Given the description of an element on the screen output the (x, y) to click on. 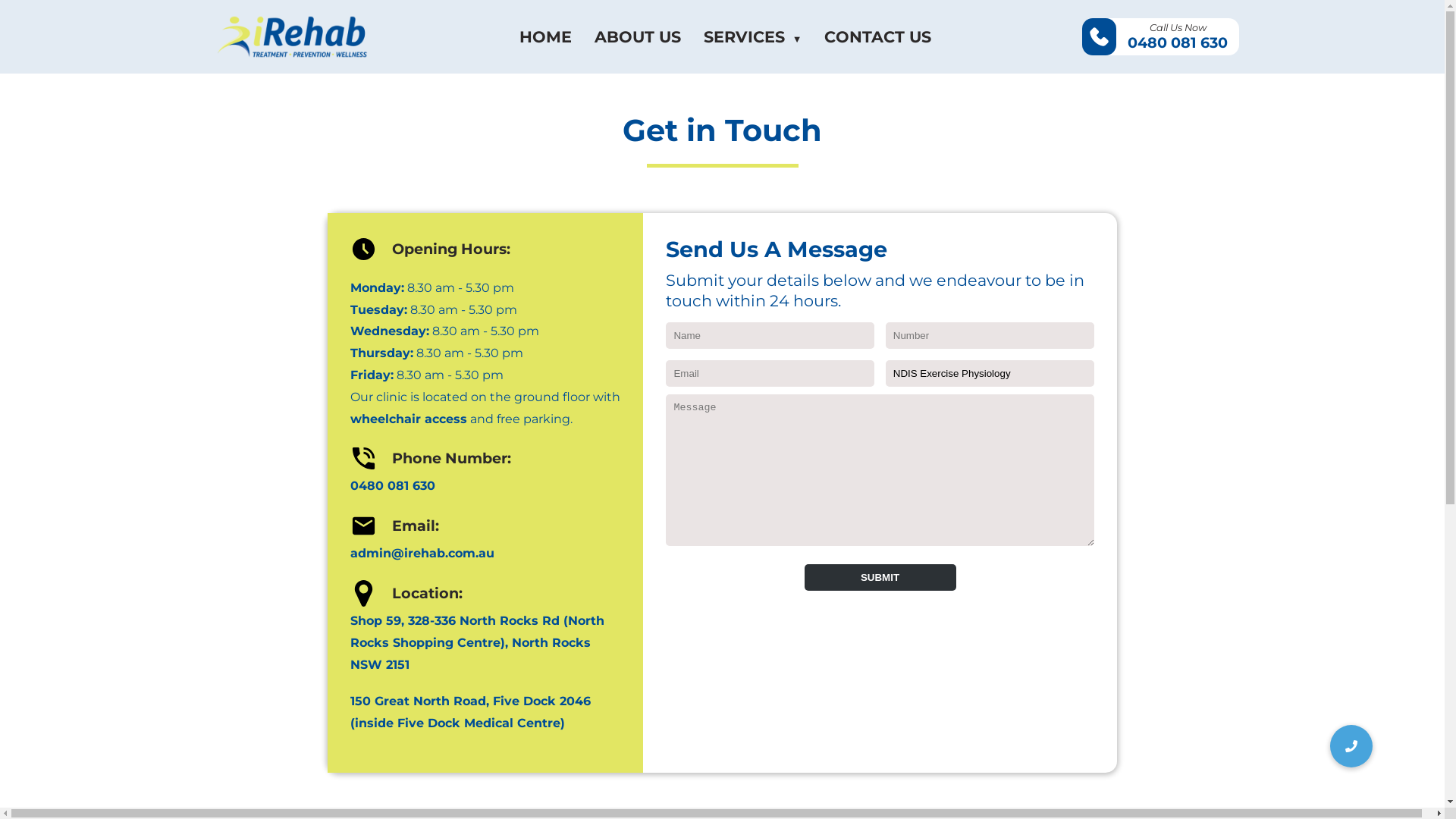
admin@irehab.com.au Element type: text (485, 553)
0480 081 630 Element type: text (485, 486)
SERVICES Element type: text (752, 36)
ABOUT US Element type: text (637, 36)
HOME Element type: text (545, 36)
CONTACT US Element type: text (877, 36)
Call Us Now
0480 081 630 Element type: text (1160, 36)
